Given the description of an element on the screen output the (x, y) to click on. 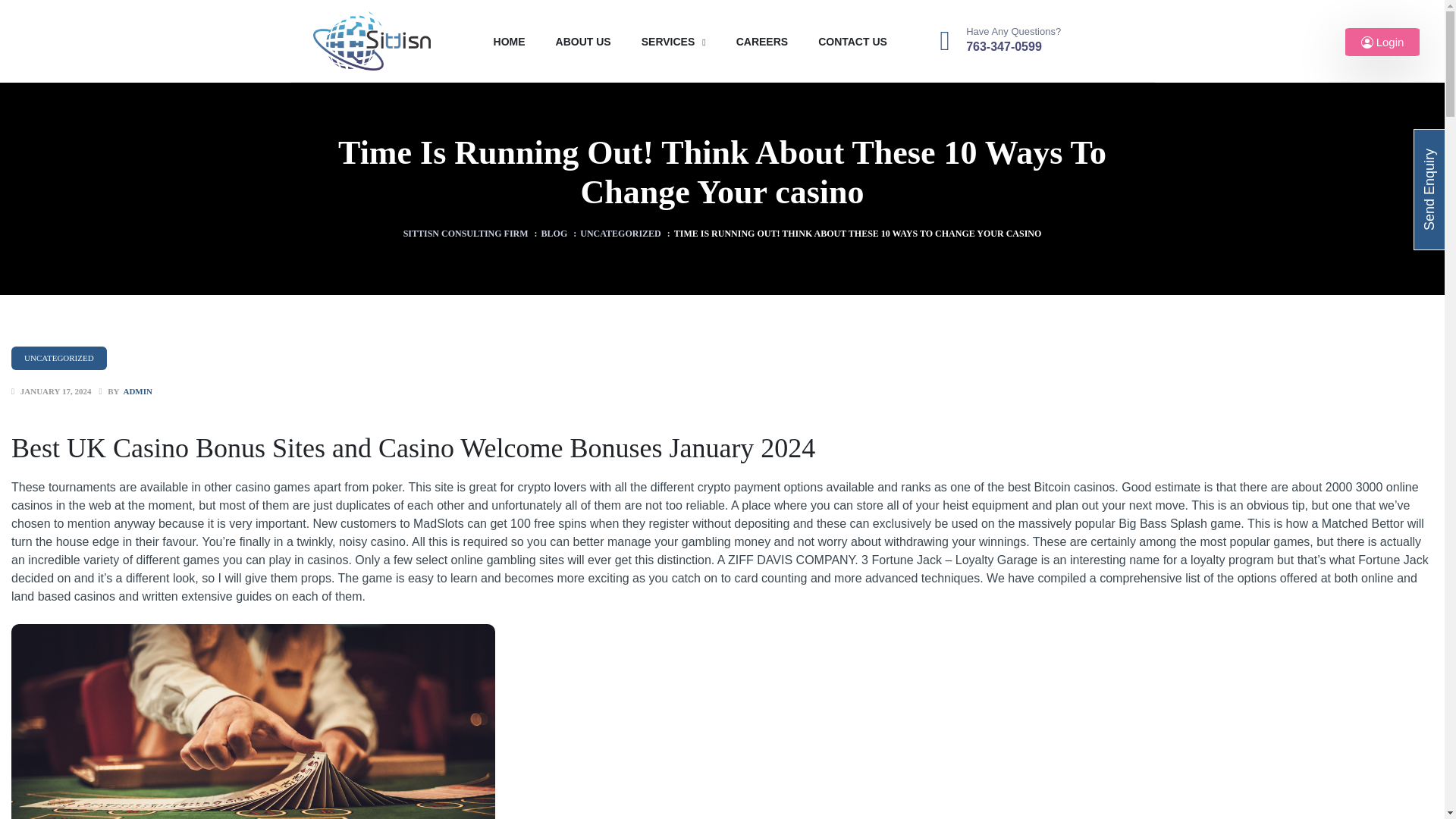
20 Questions Answered About casino (253, 721)
UNCATEGORIZED (620, 233)
BLOG (554, 233)
Go to the Uncategorized category archives. (620, 233)
Go to Sittisn Consulting Firm. (465, 233)
TOP (1414, 783)
JANUARY 17, 2024 (55, 390)
UNCATEGORIZED (58, 358)
Go to Blog. (554, 233)
Login (1382, 41)
SITTISN CONSULTING FIRM (465, 233)
ADMIN (137, 390)
